Given the description of an element on the screen output the (x, y) to click on. 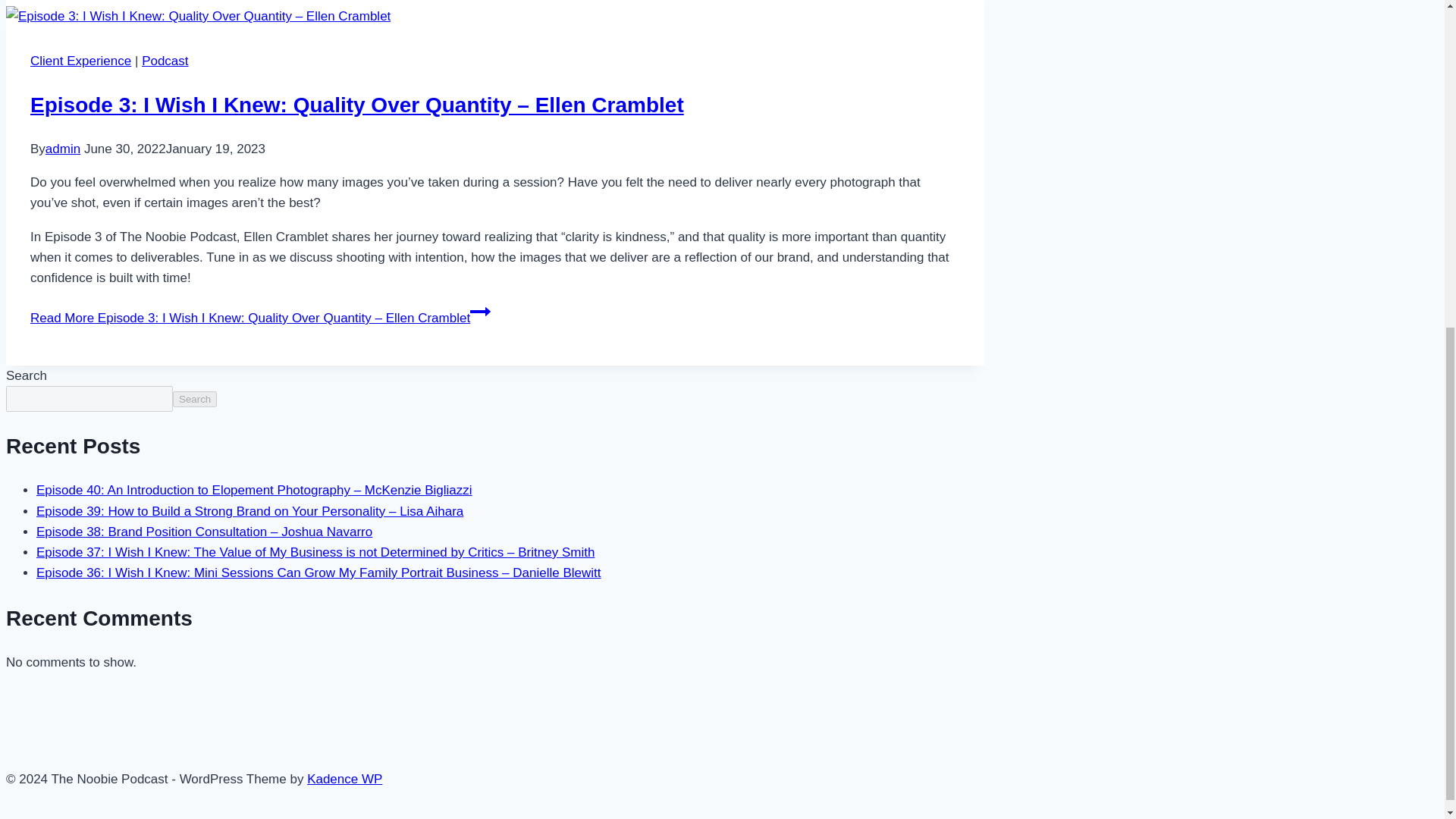
Continue (480, 311)
Search (194, 399)
Client Experience (80, 60)
admin (62, 148)
Kadence WP (344, 779)
Podcast (164, 60)
